Given the description of an element on the screen output the (x, y) to click on. 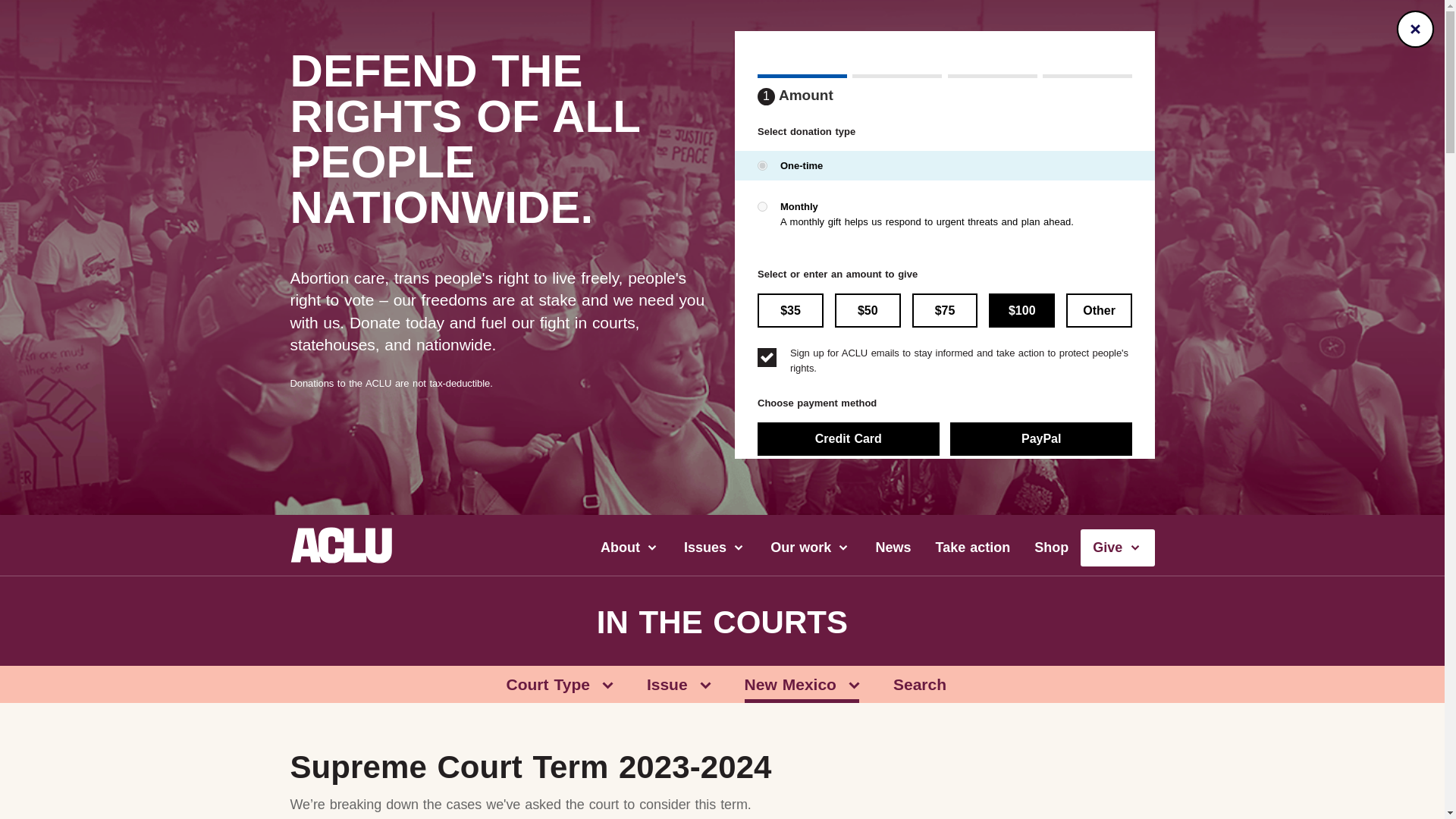
ACLU.org (340, 558)
Issues (714, 547)
News (893, 547)
About (629, 547)
Our work (810, 547)
